Given the description of an element on the screen output the (x, y) to click on. 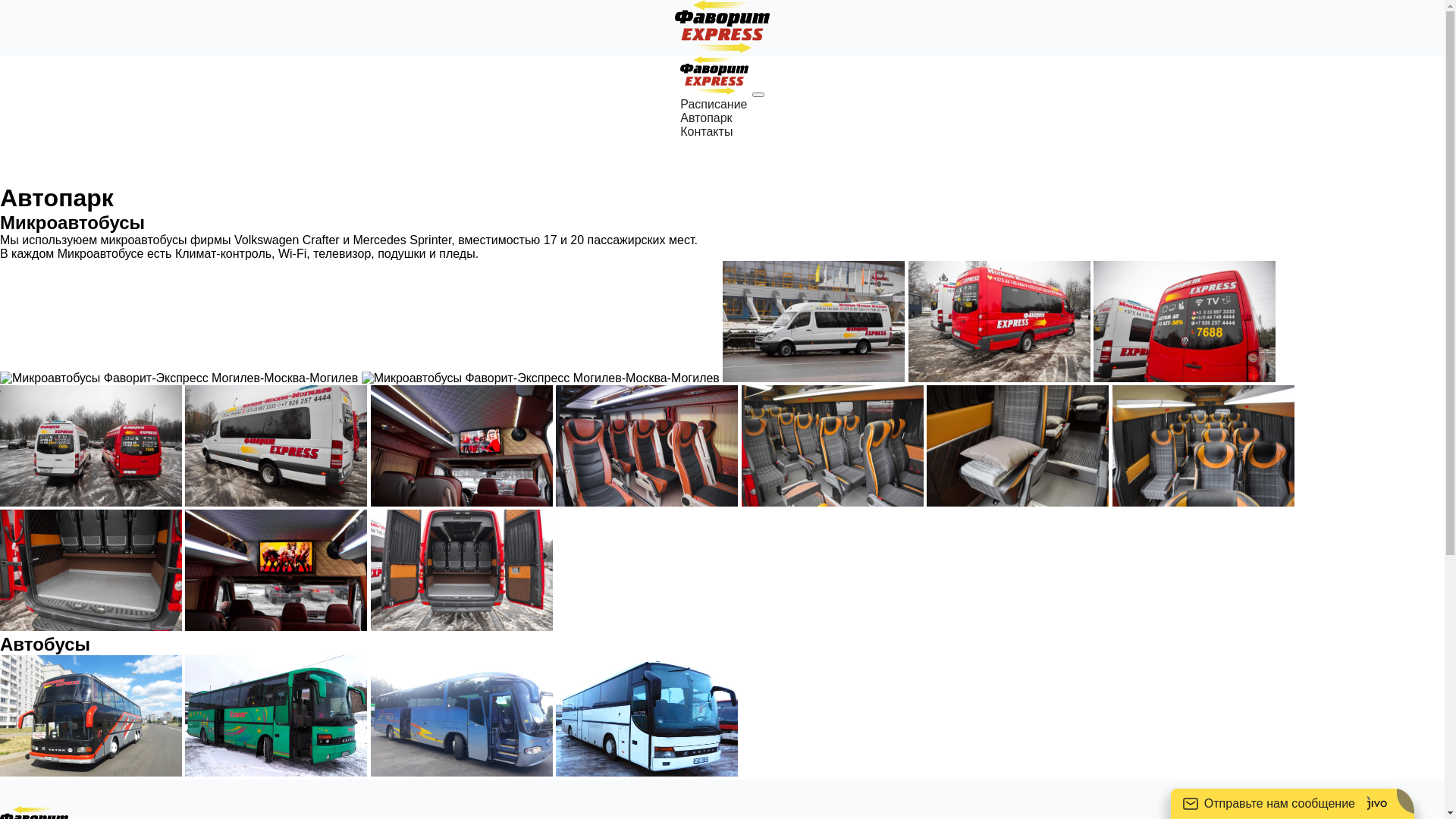
marshrutka-mogilev-moskva_1201x801.jpg Element type: hover (276, 569)
setra-white-min.jpg Element type: hover (646, 715)
marshrutka-mogilev-moskva-24_1201x801.jpg Element type: hover (461, 445)
crafter-sprinter-favorit-express-2.jpg Element type: hover (1184, 321)
mercedes-sprinter-favorit-express.jpg Element type: hover (813, 321)
marshrutka-mogilev-moskva-15_1201x801.jpg Element type: hover (1203, 445)
marshrutka-mogilev-moskva-5_1201x800.jpg Element type: hover (91, 445)
setra-black-red-grey -min.jpg Element type: hover (91, 715)
marshrutka-mogilev-moskva-12_1201x801.jpg Element type: hover (461, 569)
marshrutka-mogilev-moskva-21_1201x801.jpg Element type: hover (646, 445)
mogilev-moskva-marshrutka6_1201x802 (1).jpg Element type: hover (178, 378)
marshrutka-mogilev-moskva-19_1201x801.jpg Element type: hover (832, 445)
marshrutka-mogilev-moskva-14_1201x800.jpg Element type: hover (999, 321)
Setra S250 Special Element type: hover (276, 715)
marshrutka-mogilev-moskva-13_1201x801.jpg Element type: hover (91, 569)
man-min.jpg Element type: hover (461, 715)
crafter-sprinter-favorit-express.jpg Element type: hover (540, 378)
marshrutka-mogilev-moskva-18_1201x801.jpg Element type: hover (1017, 445)
marshrutka-mogilev-moskva-11_1201x800.jpg Element type: hover (276, 445)
